Given the description of an element on the screen output the (x, y) to click on. 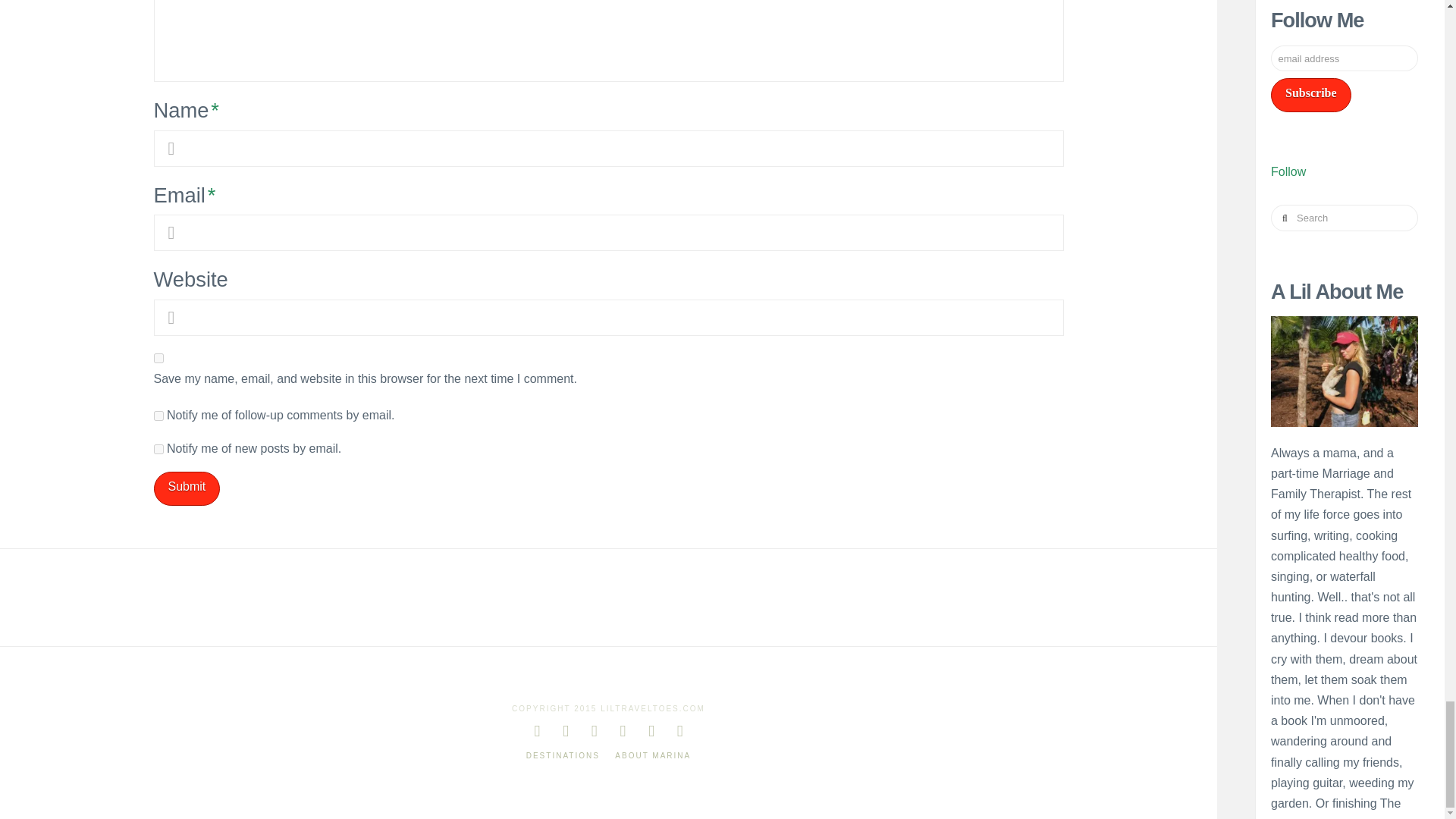
Submit (185, 488)
yes (157, 357)
subscribe (157, 449)
Submit (185, 488)
subscribe (157, 415)
